Given the description of an element on the screen output the (x, y) to click on. 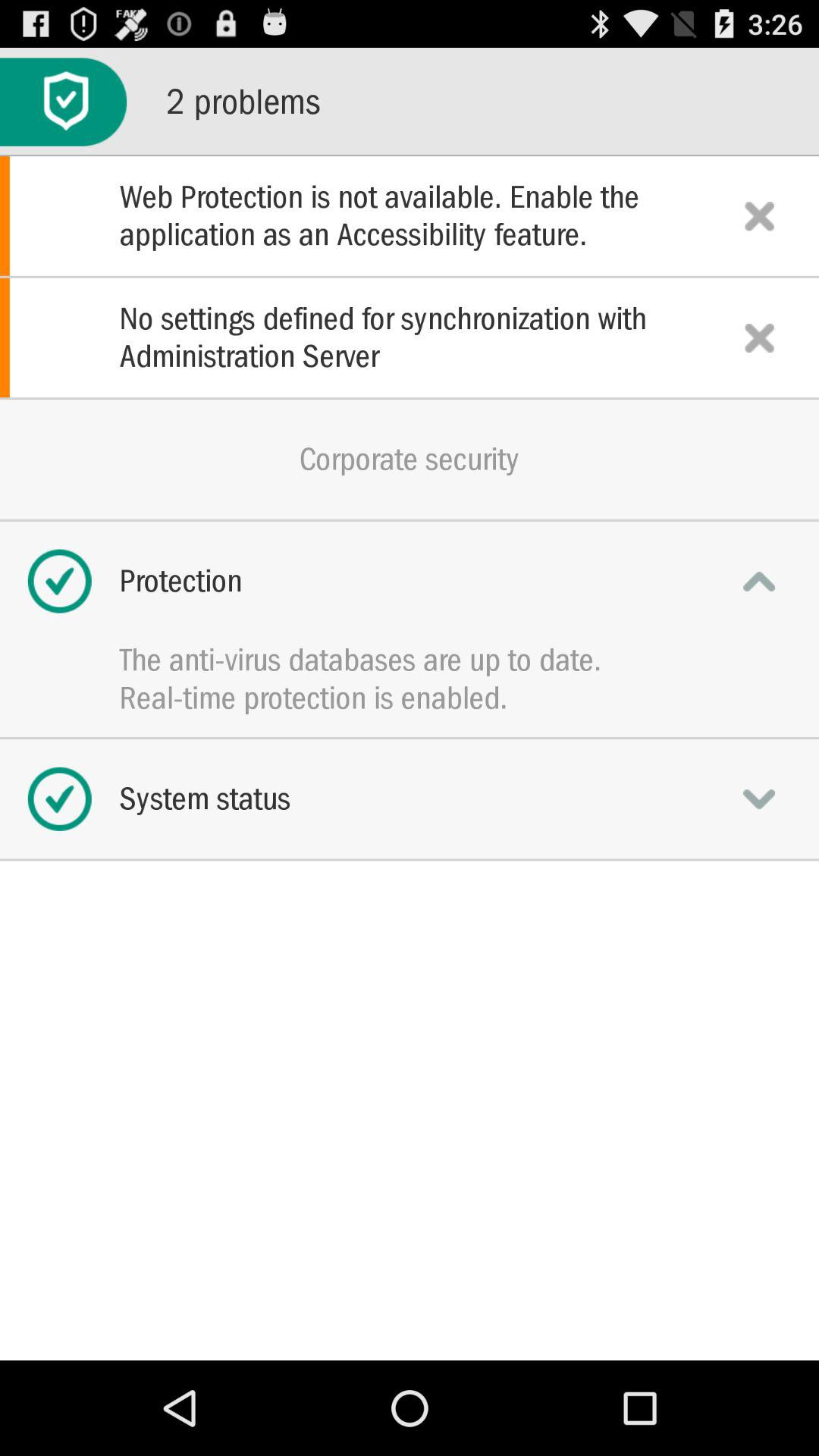
flip to no settings defined item (409, 337)
